Given the description of an element on the screen output the (x, y) to click on. 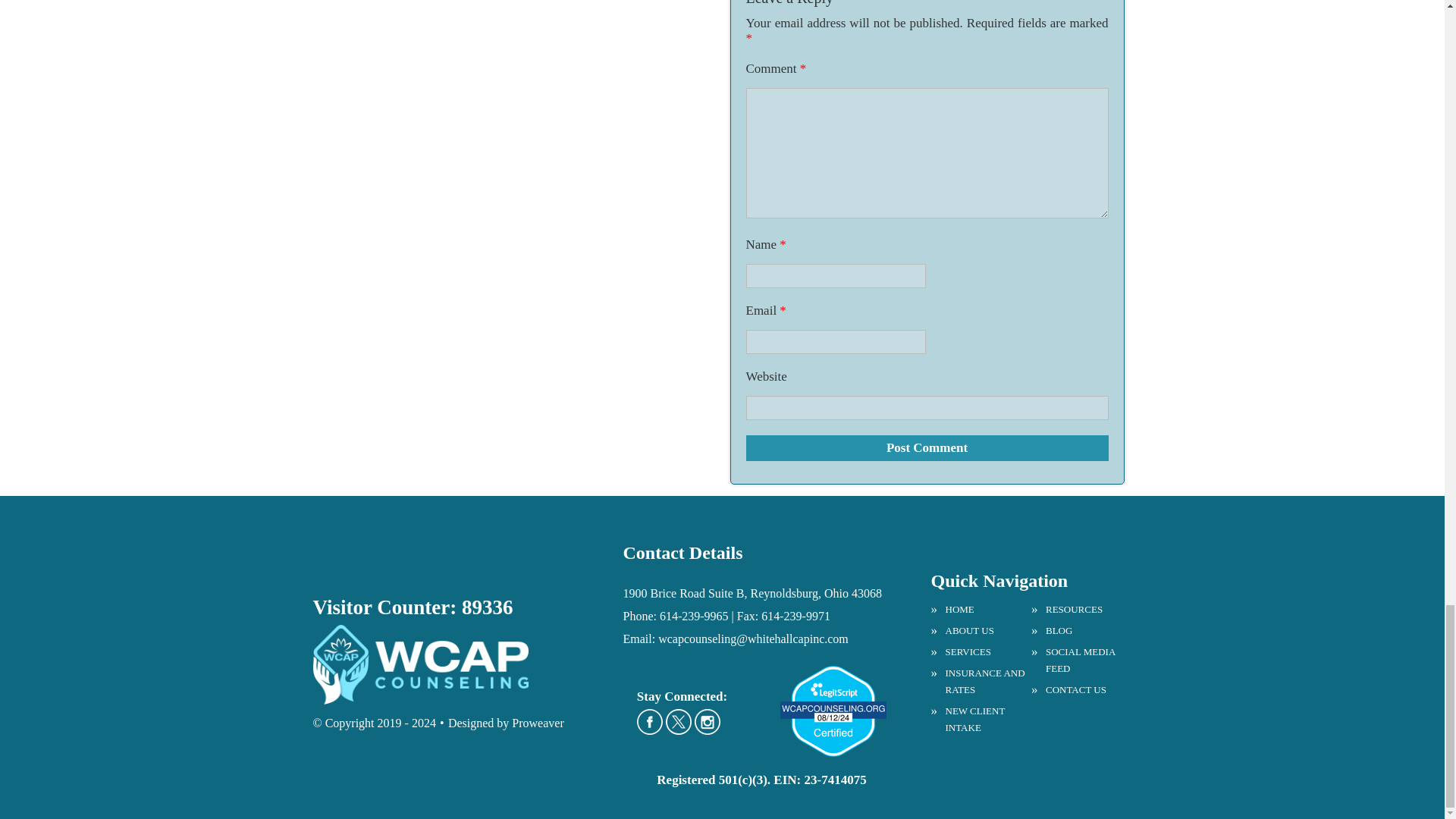
RESOURCES (1081, 609)
ABOUT US (981, 630)
NEW CLIENT INTAKE (981, 719)
CONTACT US (1081, 689)
SOCIAL MEDIA FEED (1081, 660)
Post Comment (926, 447)
Post Comment (926, 447)
Verify LegitScript Approval (833, 673)
BLOG (1081, 630)
SERVICES (981, 651)
